Given the description of an element on the screen output the (x, y) to click on. 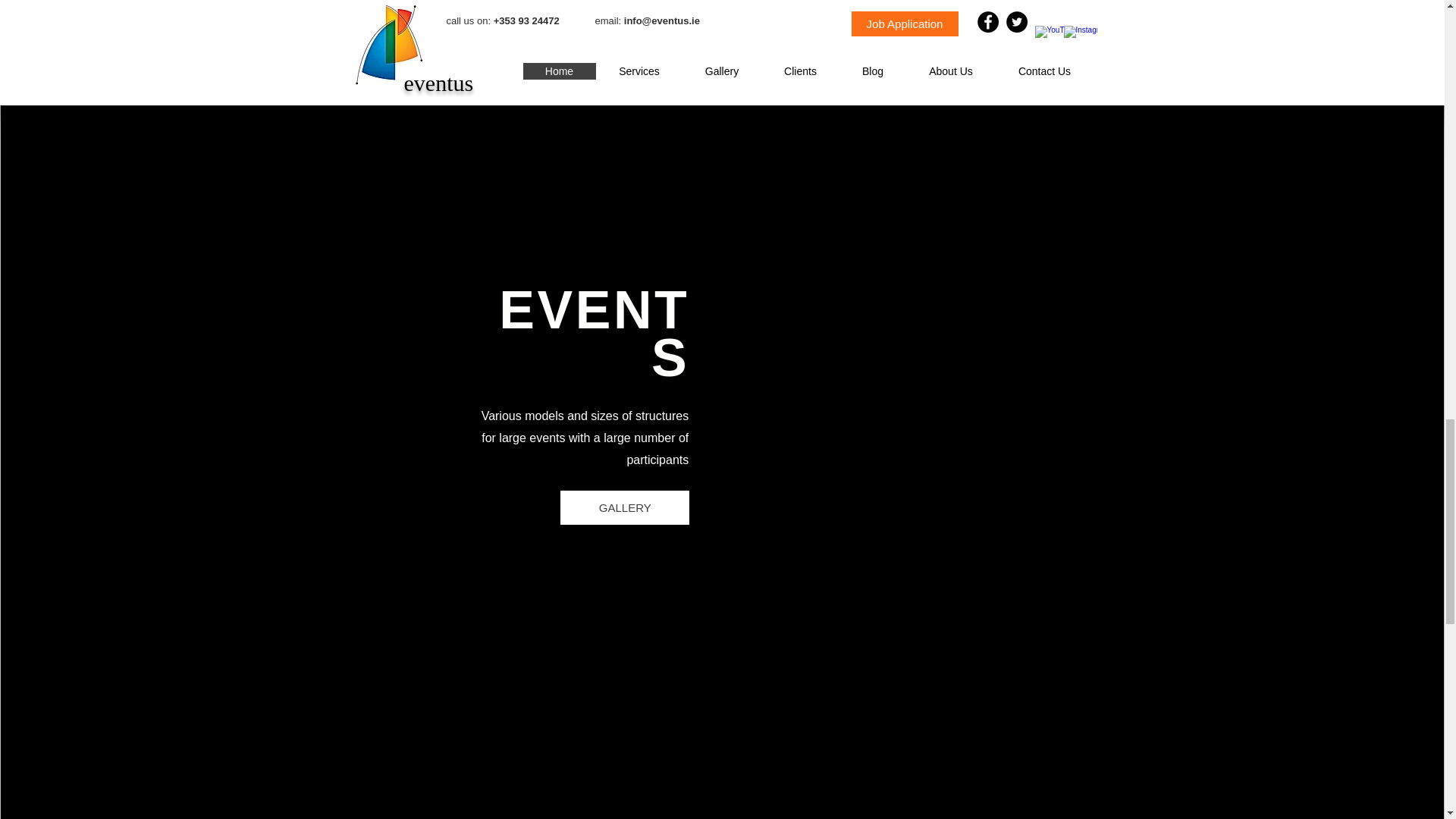
GALLERY (624, 507)
